Given the description of an element on the screen output the (x, y) to click on. 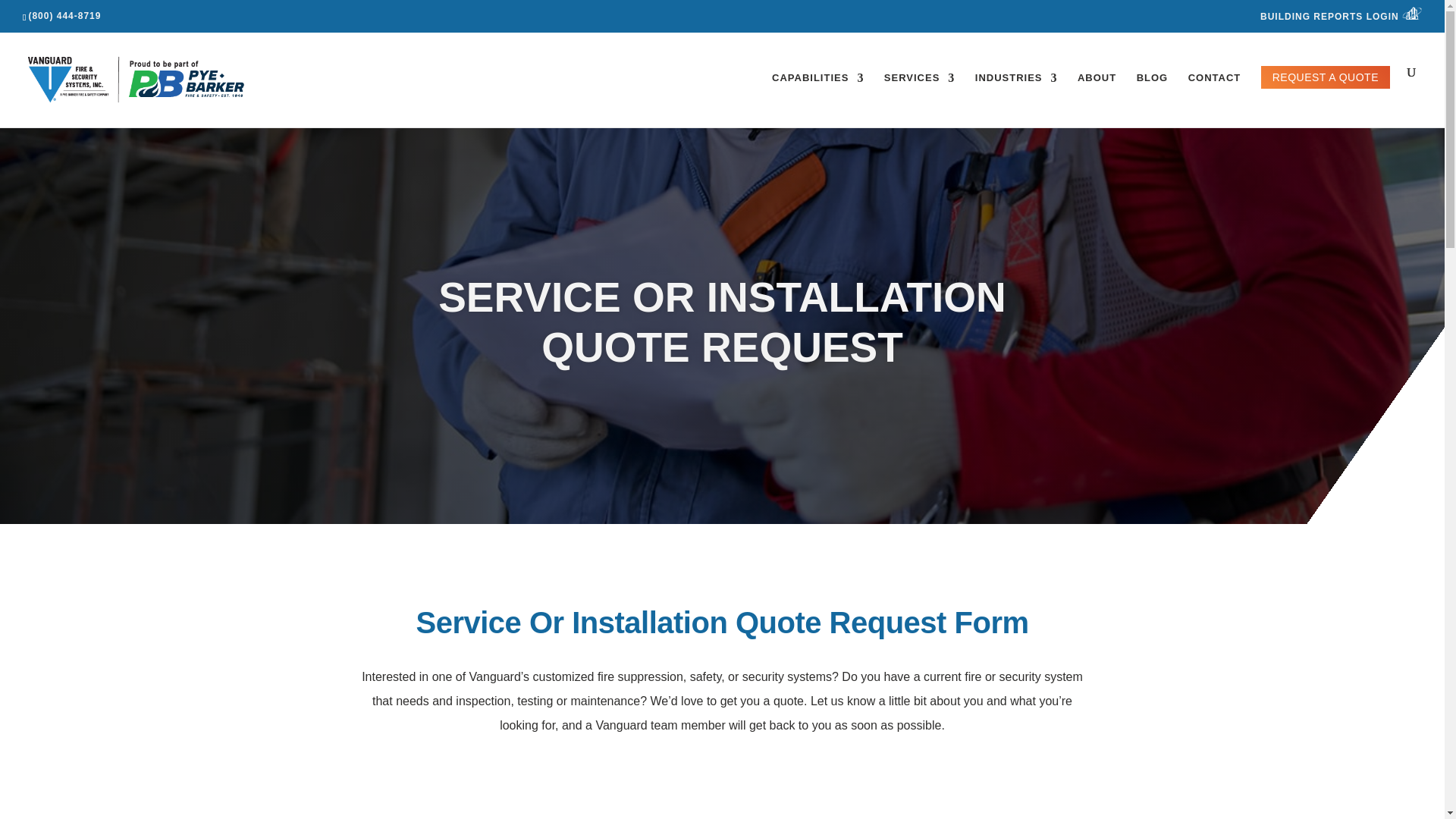
INDUSTRIES (1016, 94)
REQUEST A QUOTE (1325, 94)
CONTACT (1214, 94)
SERVICES (919, 94)
REQUEST A QUOTE (1325, 77)
BUILDING REPORTS LOGIN (1341, 16)
CAPABILITIES (817, 94)
